Given the description of an element on the screen output the (x, y) to click on. 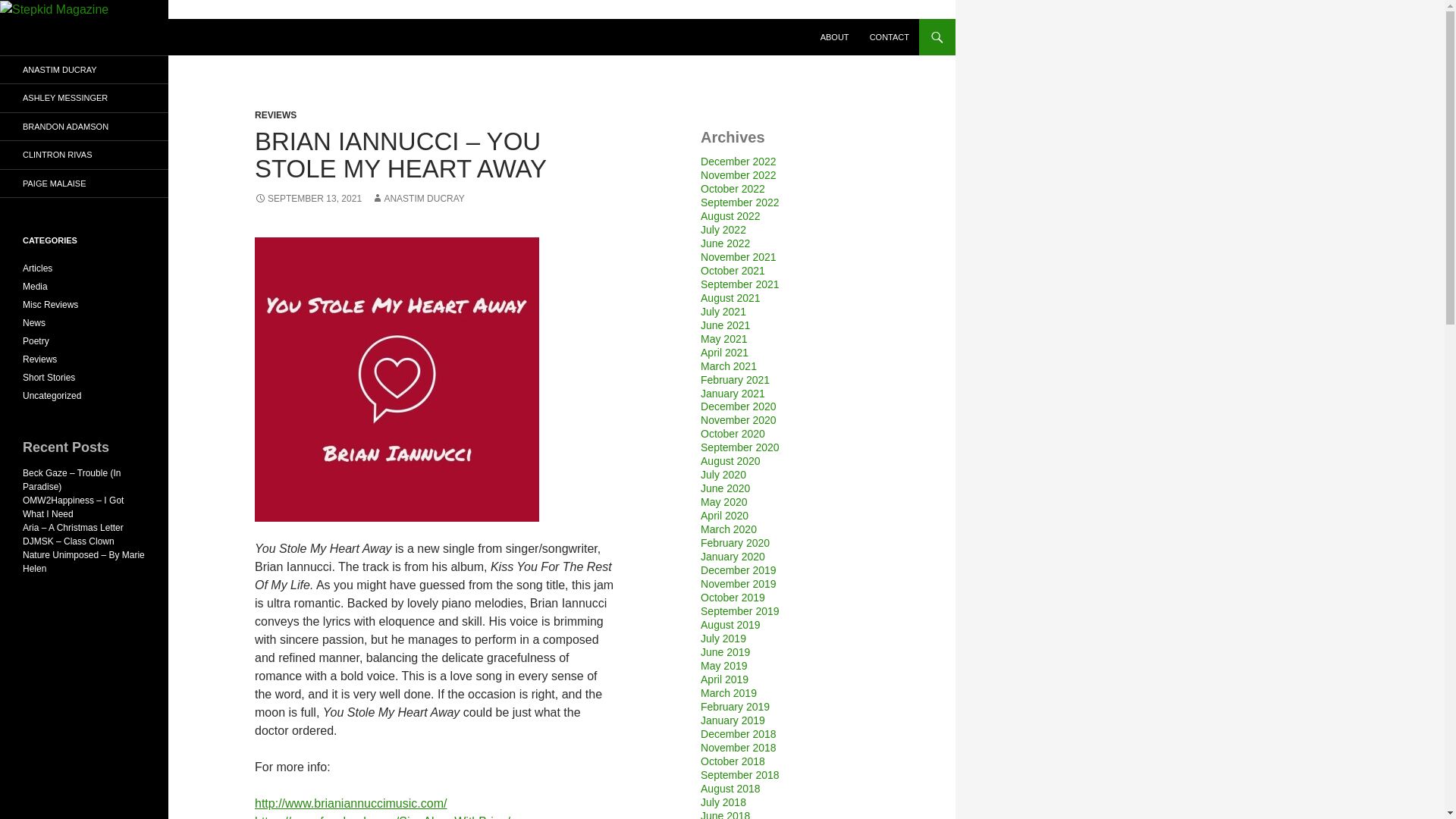
SEPTEMBER 13, 2021 (307, 198)
November 2022 (738, 174)
December 2022 (738, 161)
CONTACT (889, 36)
December 2020 (738, 406)
January 2021 (732, 392)
August 2020 (730, 460)
October 2021 (732, 270)
ANASTIM DUCRAY (417, 198)
August 2021 (730, 297)
February 2021 (735, 379)
September 2020 (739, 447)
June 2022 (724, 243)
September 2021 (739, 284)
